Given the description of an element on the screen output the (x, y) to click on. 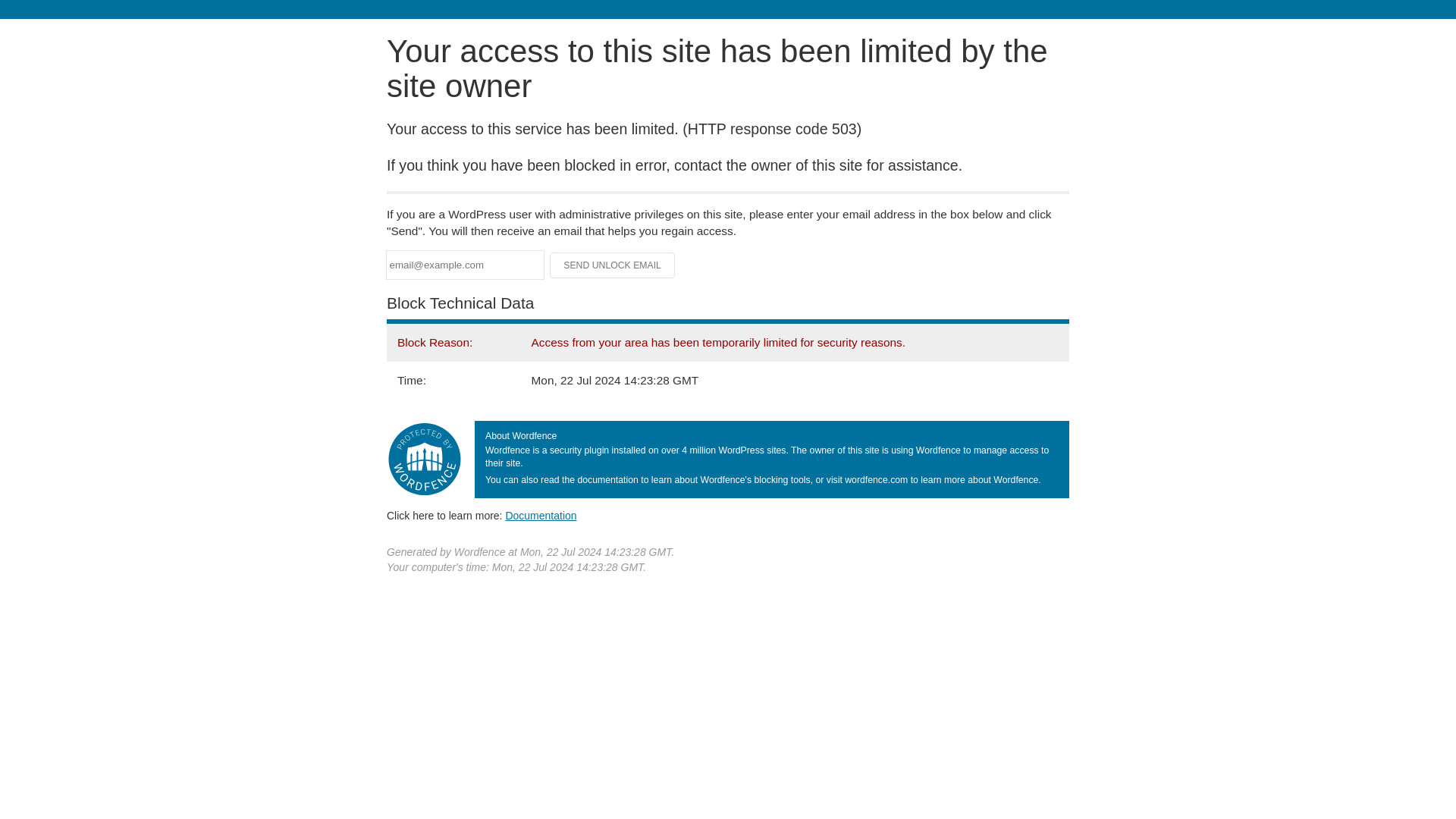
Documentation (540, 515)
Send Unlock Email (612, 265)
Send Unlock Email (612, 265)
